Given the description of an element on the screen output the (x, y) to click on. 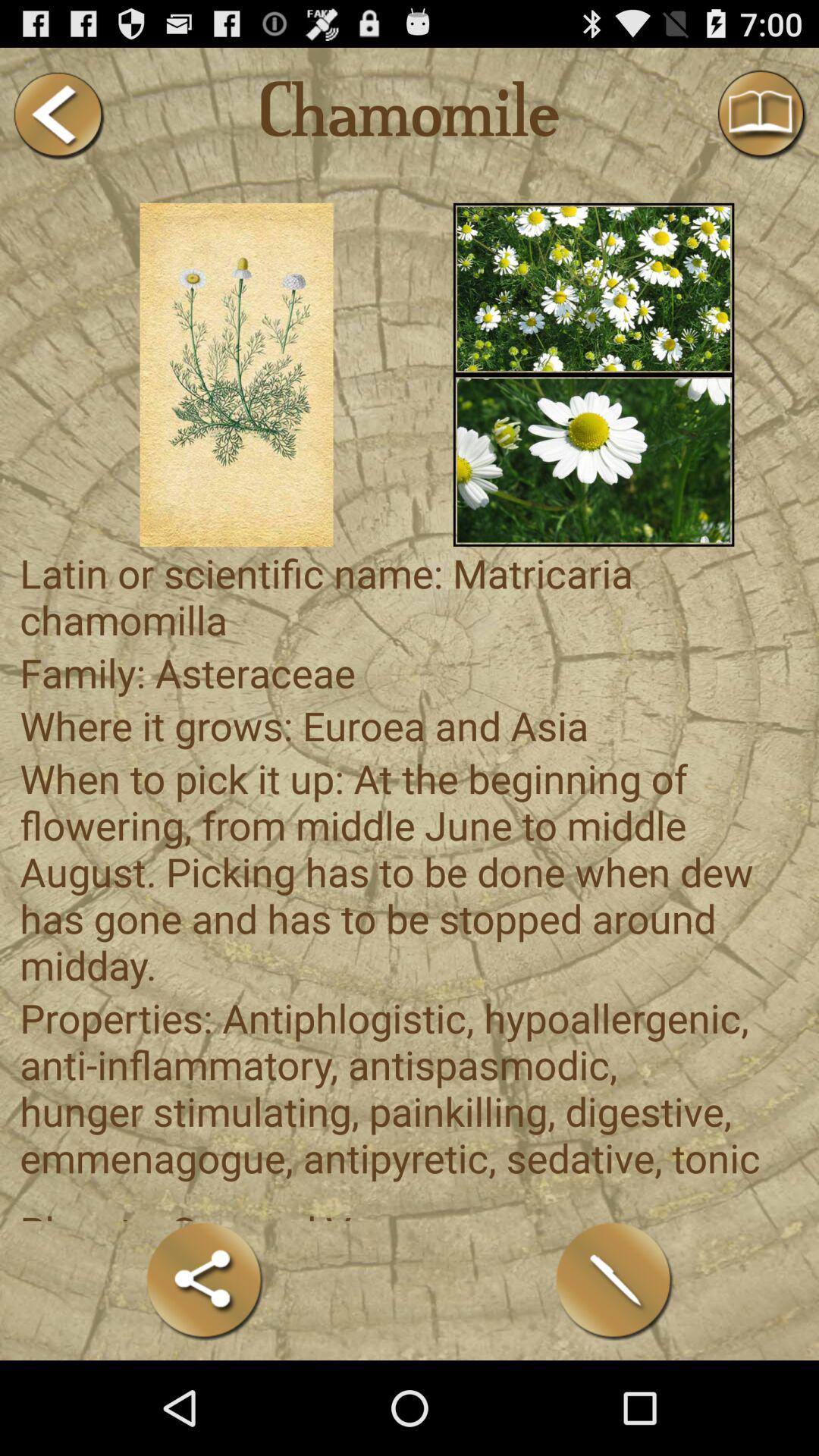
go back (57, 115)
